Given the description of an element on the screen output the (x, y) to click on. 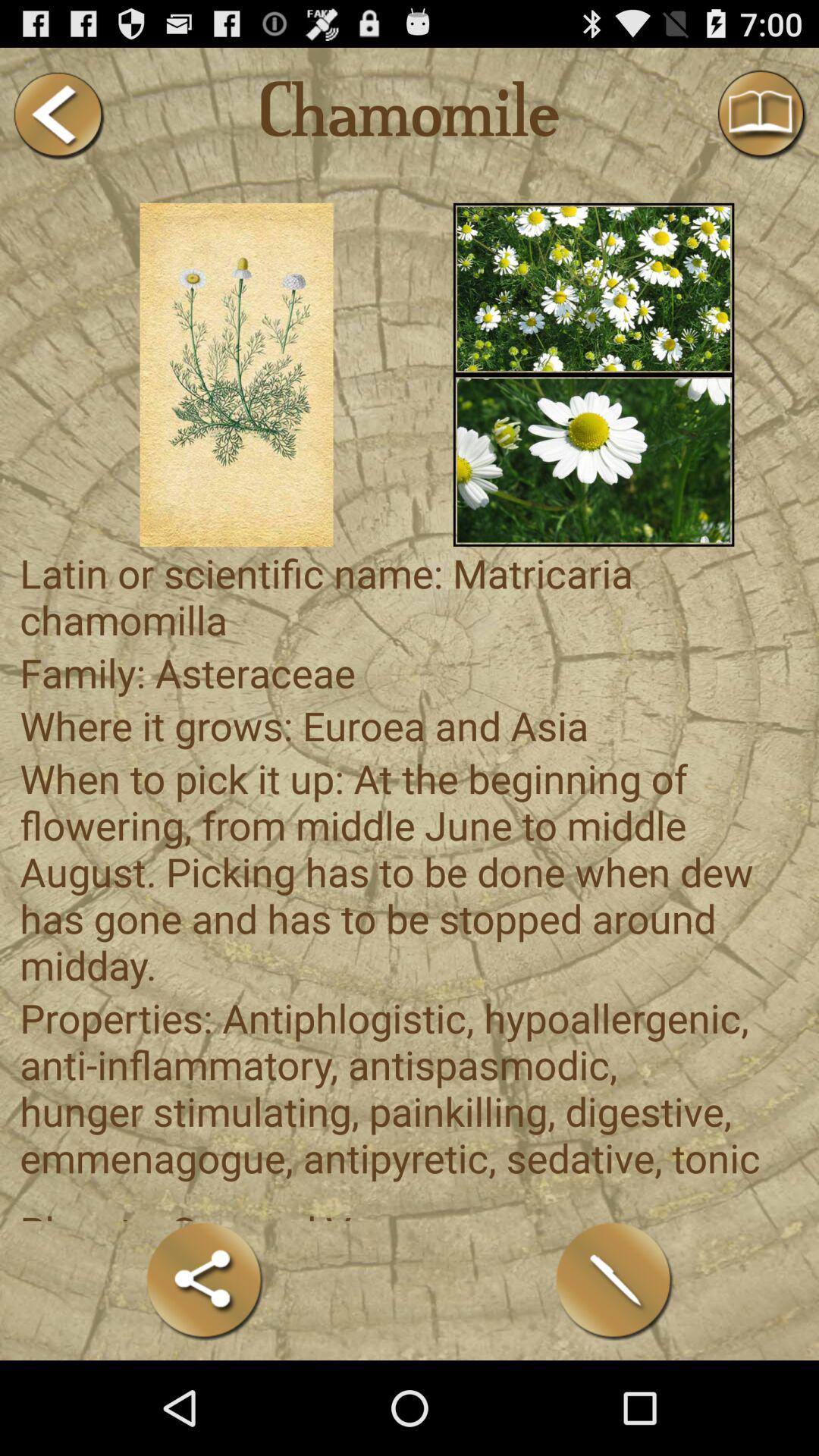
go back (57, 115)
